Given the description of an element on the screen output the (x, y) to click on. 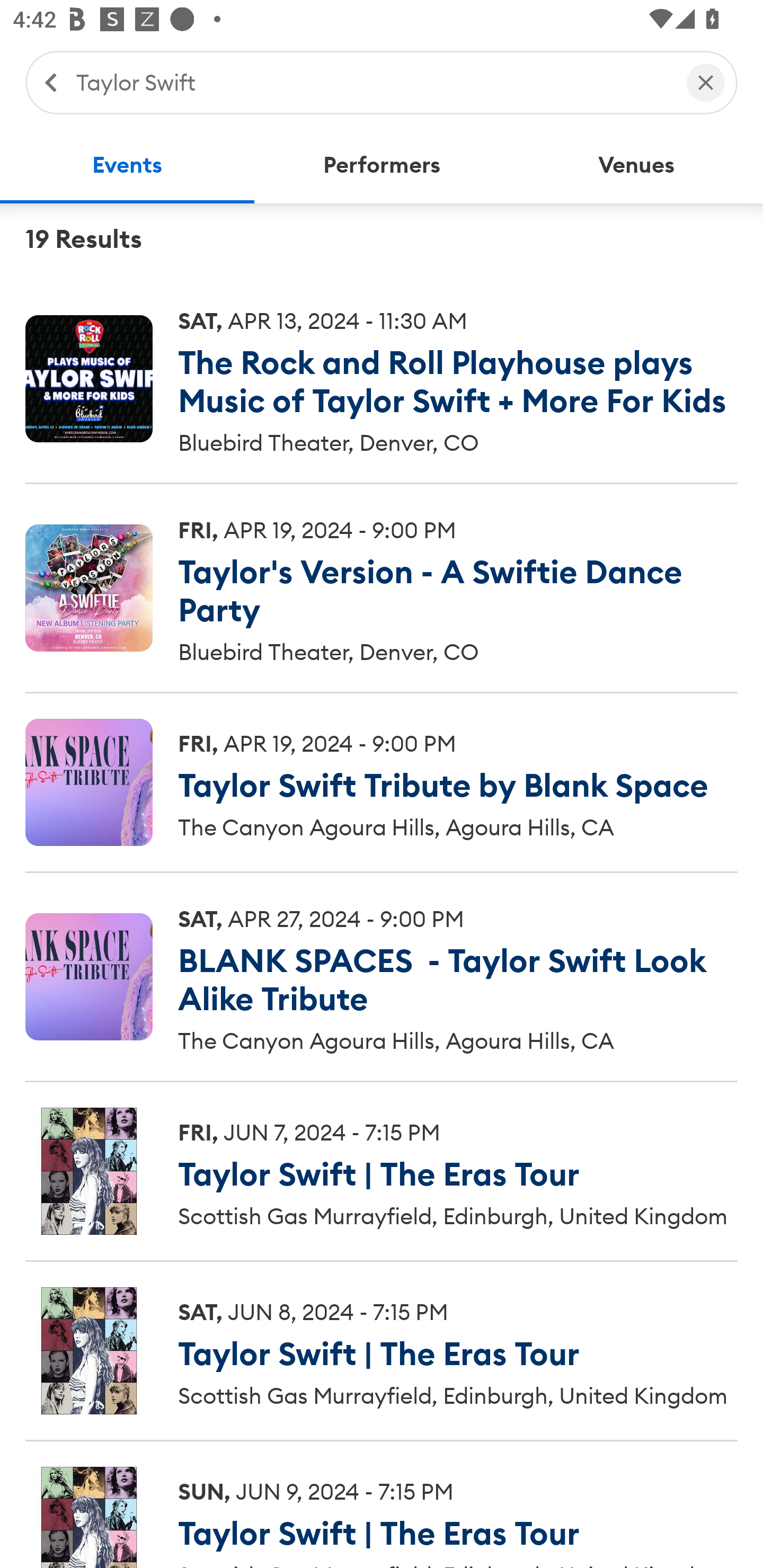
Taylor Swift (371, 81)
Clear Search (705, 81)
Performers (381, 165)
Venues (635, 165)
